Given the description of an element on the screen output the (x, y) to click on. 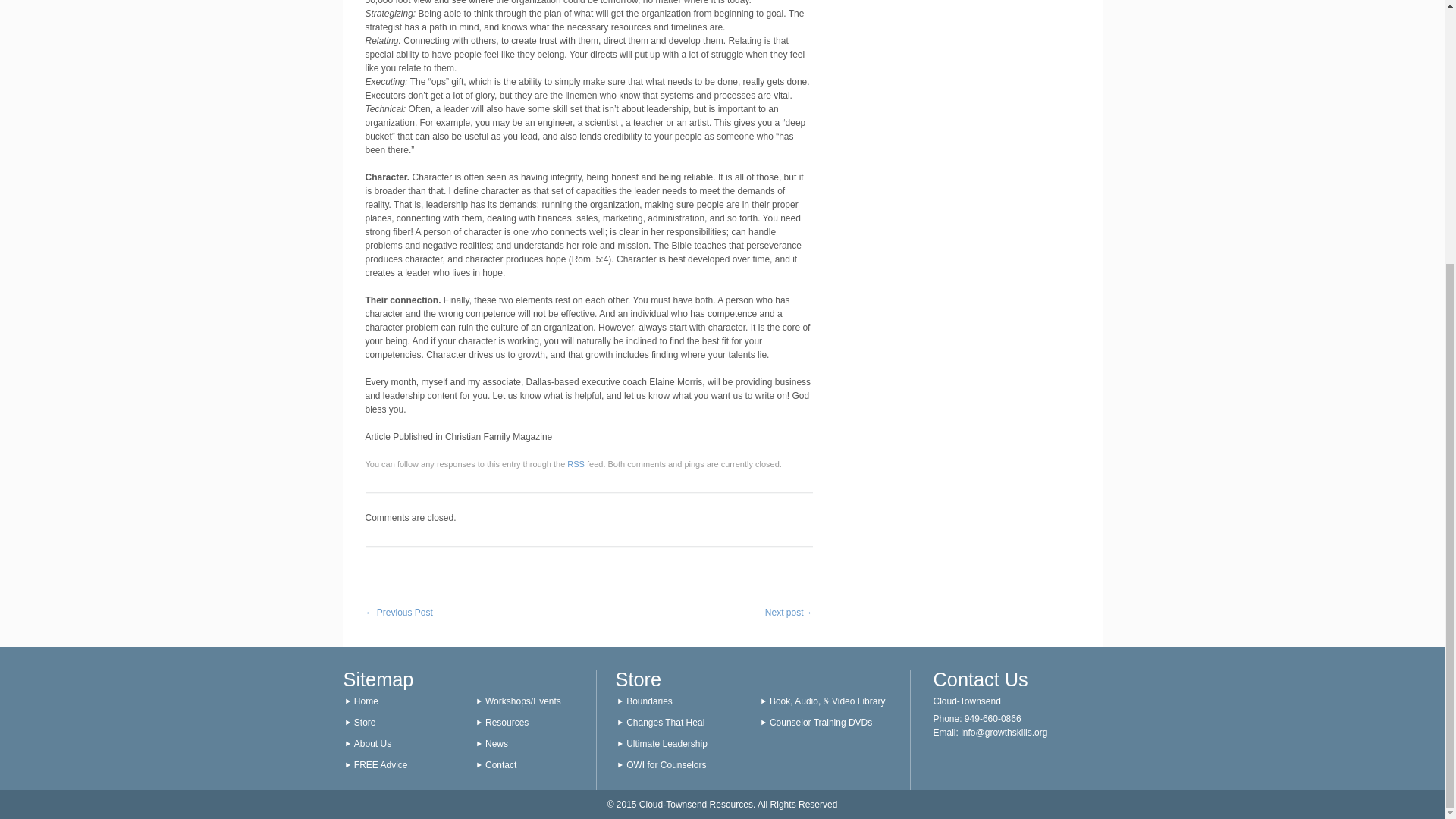
Resources (506, 722)
Contact (500, 765)
Home (365, 701)
Changes That Heal (680, 722)
RSS (576, 463)
About Us (372, 743)
OWI for Counselors (680, 765)
Store (364, 722)
Counselor Training DVDs (824, 722)
News (496, 743)
